Given the description of an element on the screen output the (x, y) to click on. 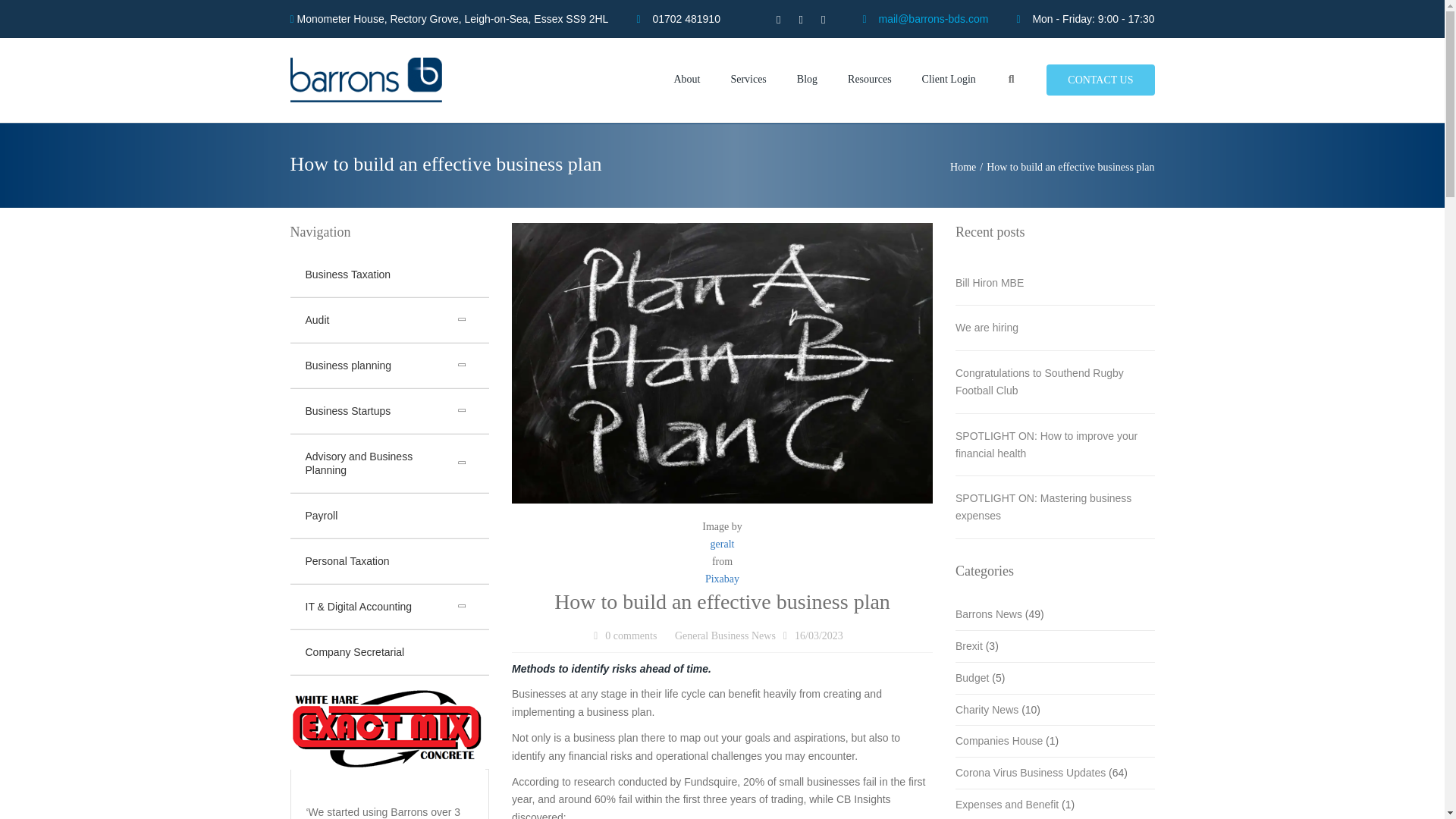
Home (968, 166)
Services (747, 79)
Blog (807, 79)
About (686, 79)
Client Login (949, 79)
Business planning (389, 365)
CONTACT US (1100, 79)
Audit (389, 320)
Resources (869, 79)
Business Taxation (389, 274)
